Given the description of an element on the screen output the (x, y) to click on. 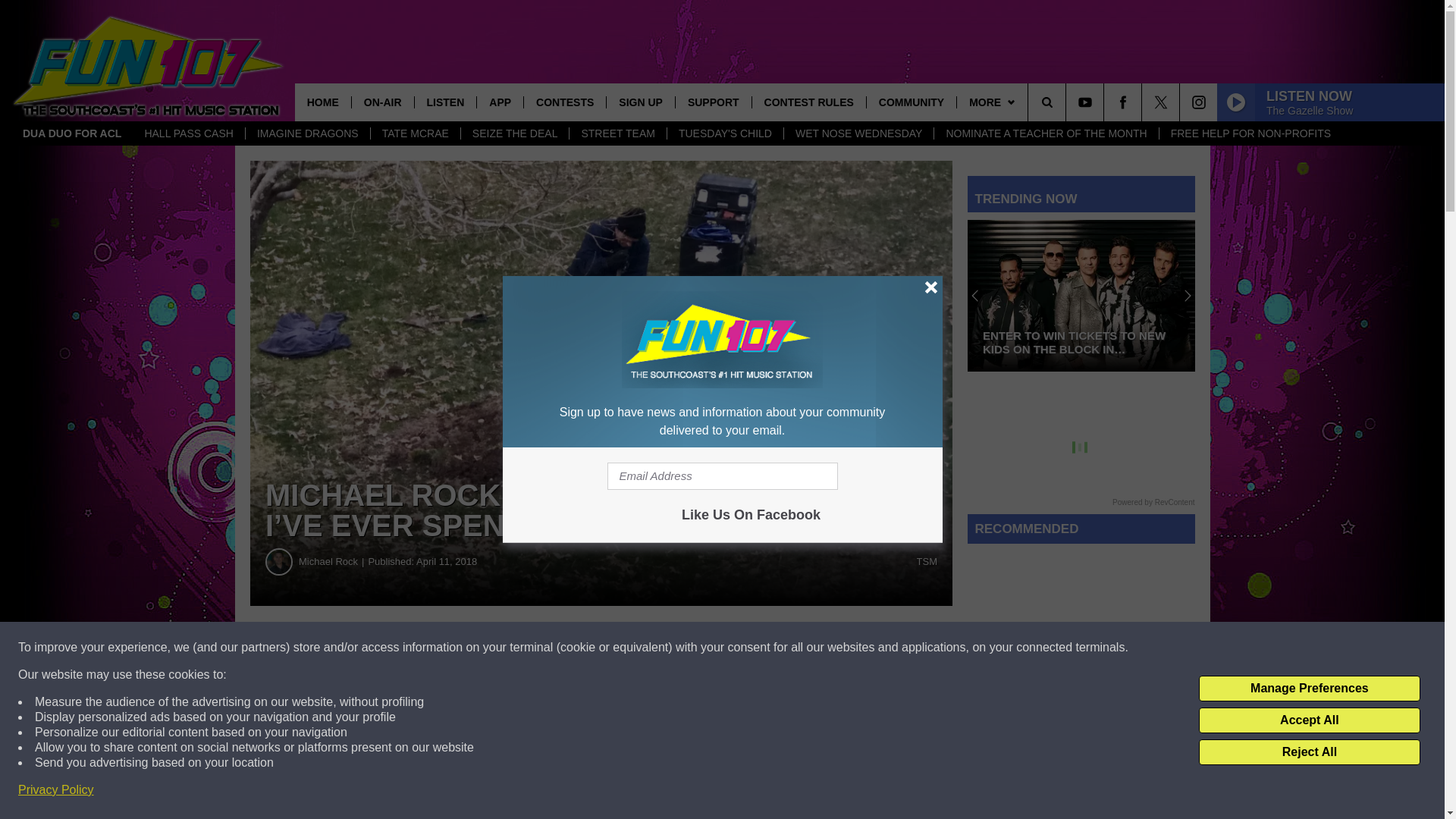
ON-AIR (381, 102)
HALL PASS CASH (188, 133)
NOMINATE A TEACHER OF THE MONTH (1045, 133)
SEARCH (1068, 102)
DUA DUO FOR ACL (71, 133)
LISTEN (445, 102)
Reject All (1309, 751)
SEARCH (1068, 102)
TATE MCRAE (414, 133)
Email Address (722, 475)
Share on Facebook (460, 647)
IMAGINE DRAGONS (306, 133)
Privacy Policy (55, 789)
TUESDAY'S CHILD (724, 133)
SEIZE THE DEAL (514, 133)
